Given the description of an element on the screen output the (x, y) to click on. 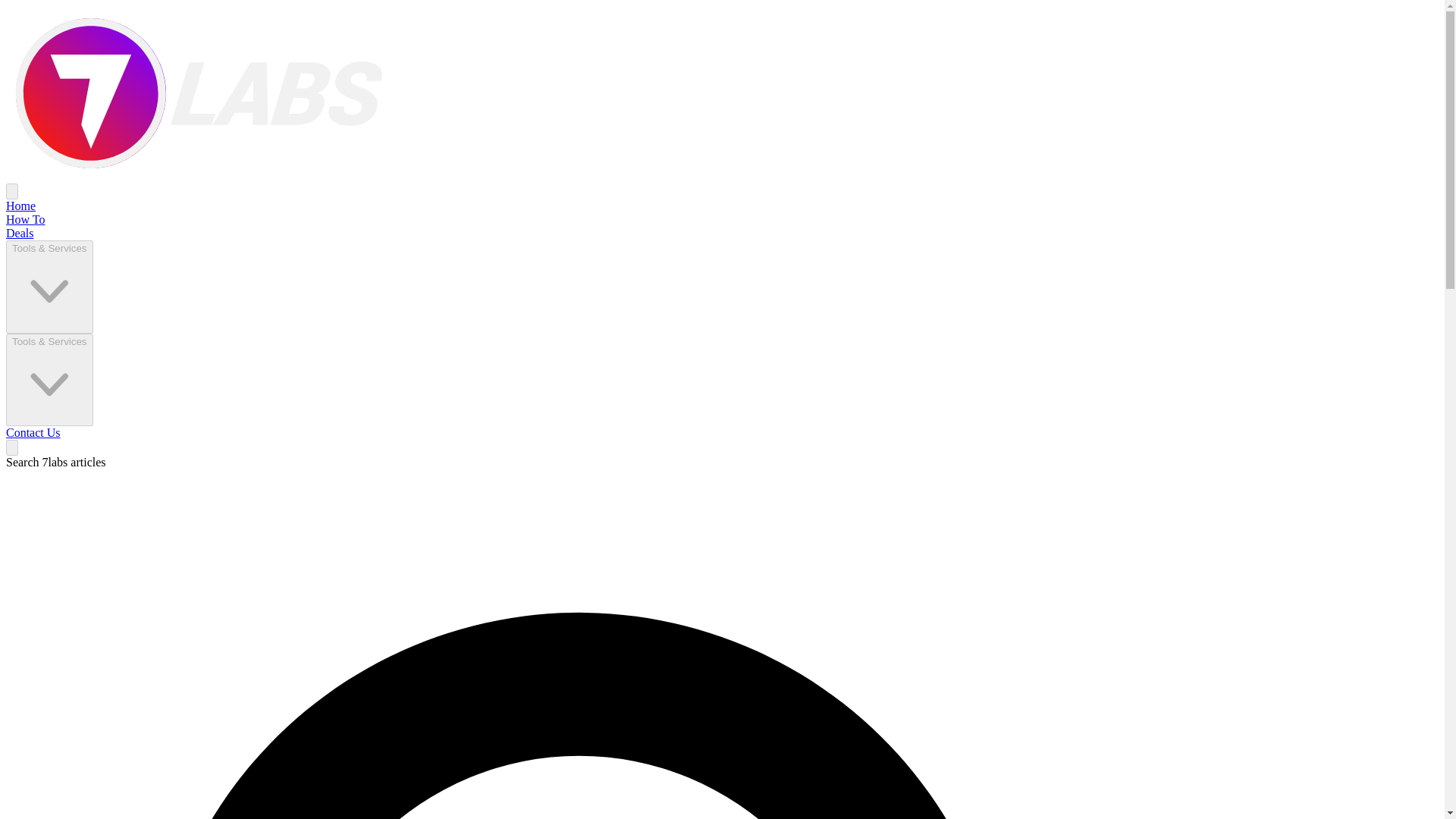
Contact Us (33, 431)
Home (19, 205)
How To (25, 219)
Deals (19, 232)
